Given the description of an element on the screen output the (x, y) to click on. 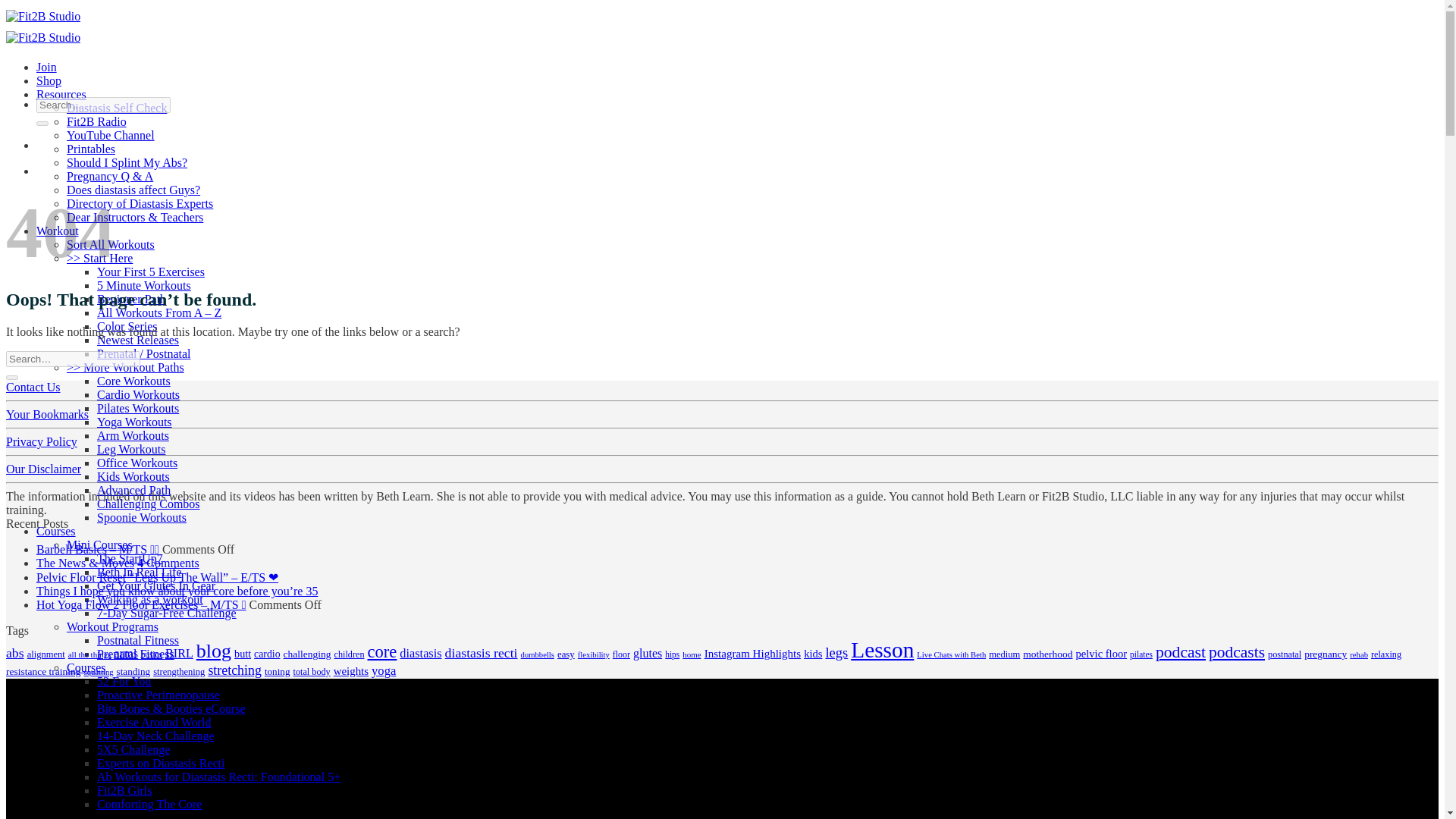
Should I Splint My Abs? (126, 162)
Fit2B Radio (96, 121)
Shop (48, 80)
Does diastasis affect Guys? (133, 189)
Spoonie Workouts (141, 517)
Color Series (127, 326)
Sort All Workouts (110, 244)
Diastasis Self Check (116, 107)
Challenging Combos (148, 503)
Pilates Workouts (138, 408)
